Given the description of an element on the screen output the (x, y) to click on. 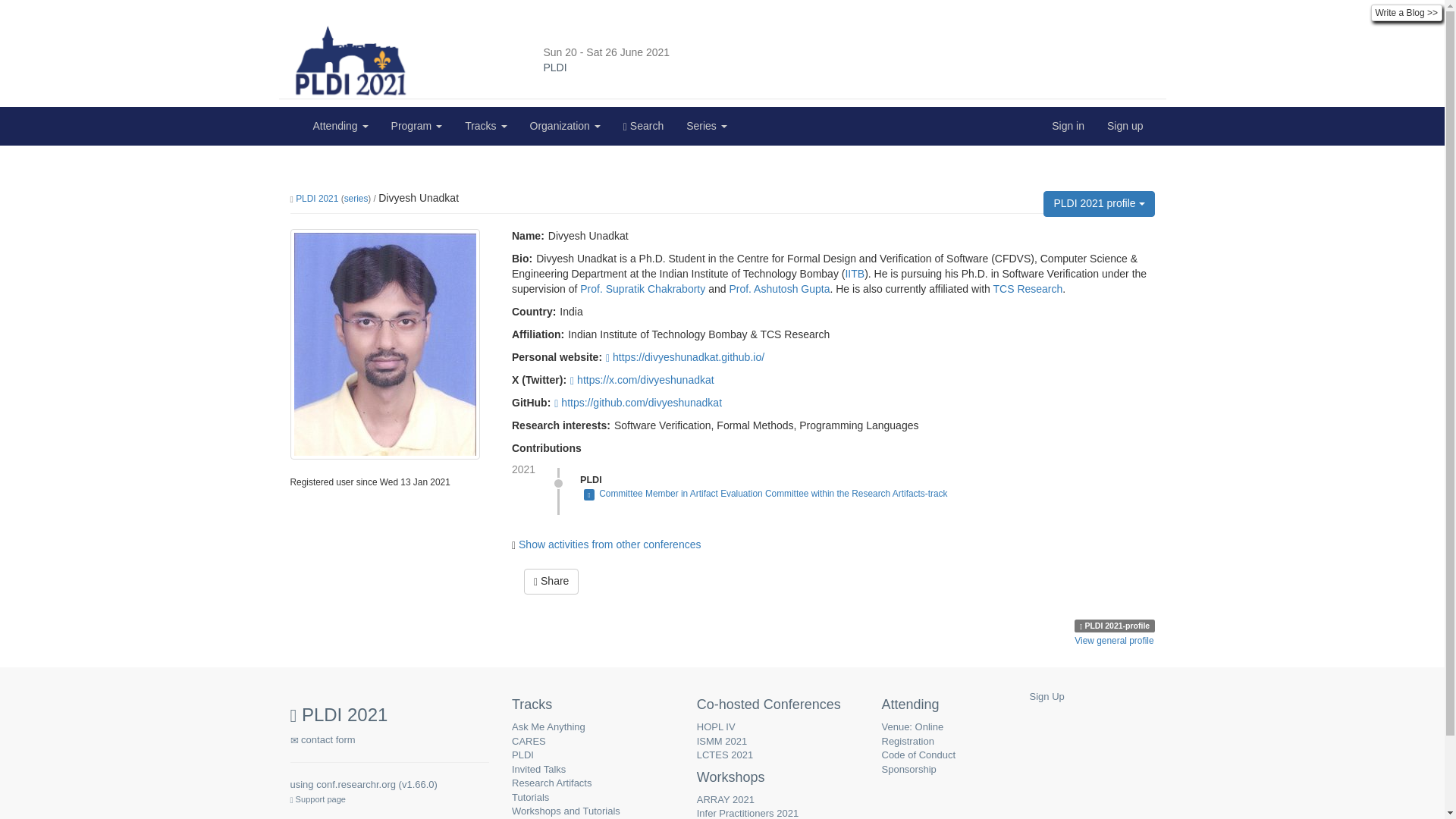
Tracks (485, 125)
Attending (340, 125)
Program (417, 125)
PLDI (606, 68)
